Given the description of an element on the screen output the (x, y) to click on. 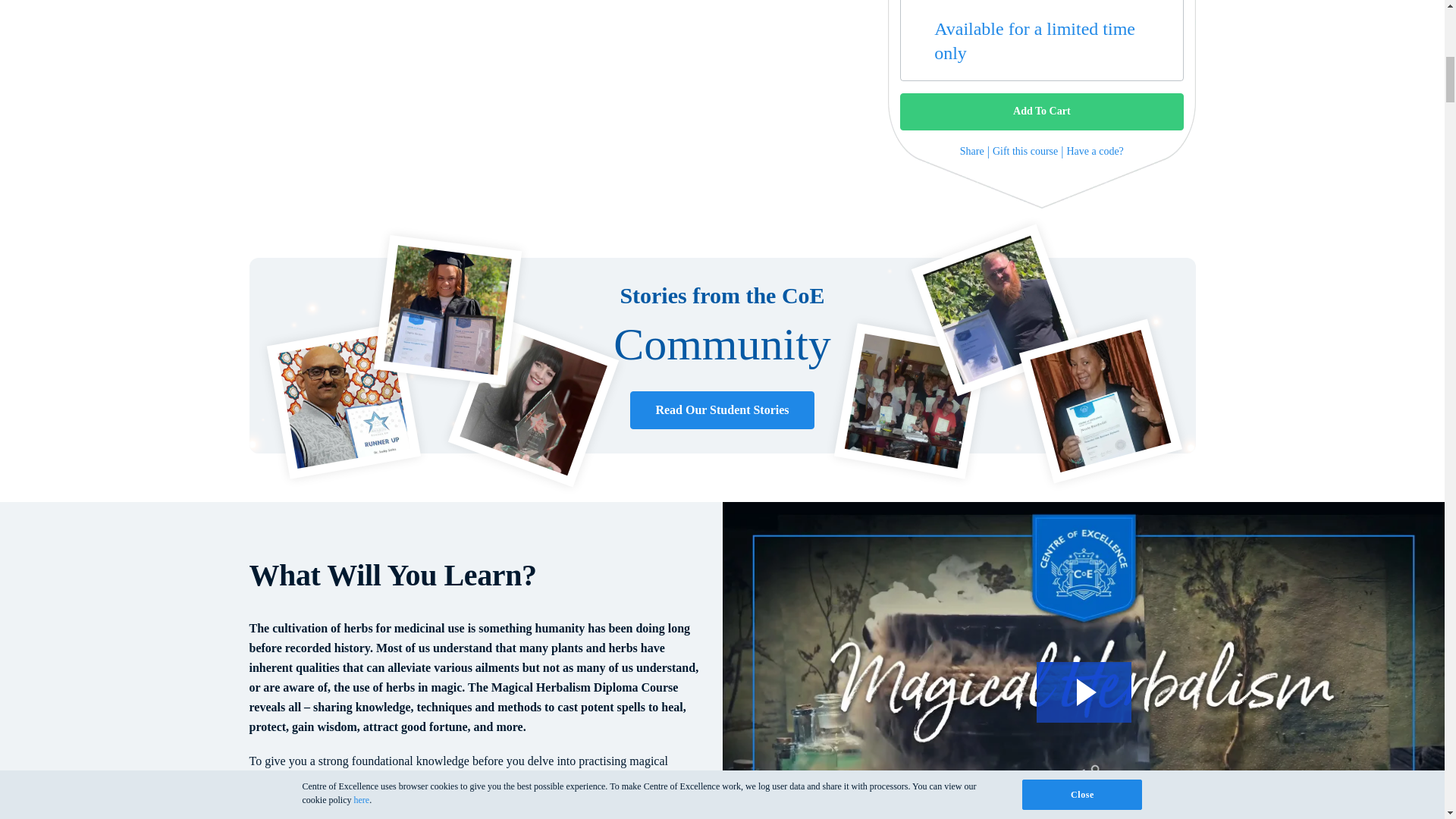
Read Our Student Stories (721, 410)
